Given the description of an element on the screen output the (x, y) to click on. 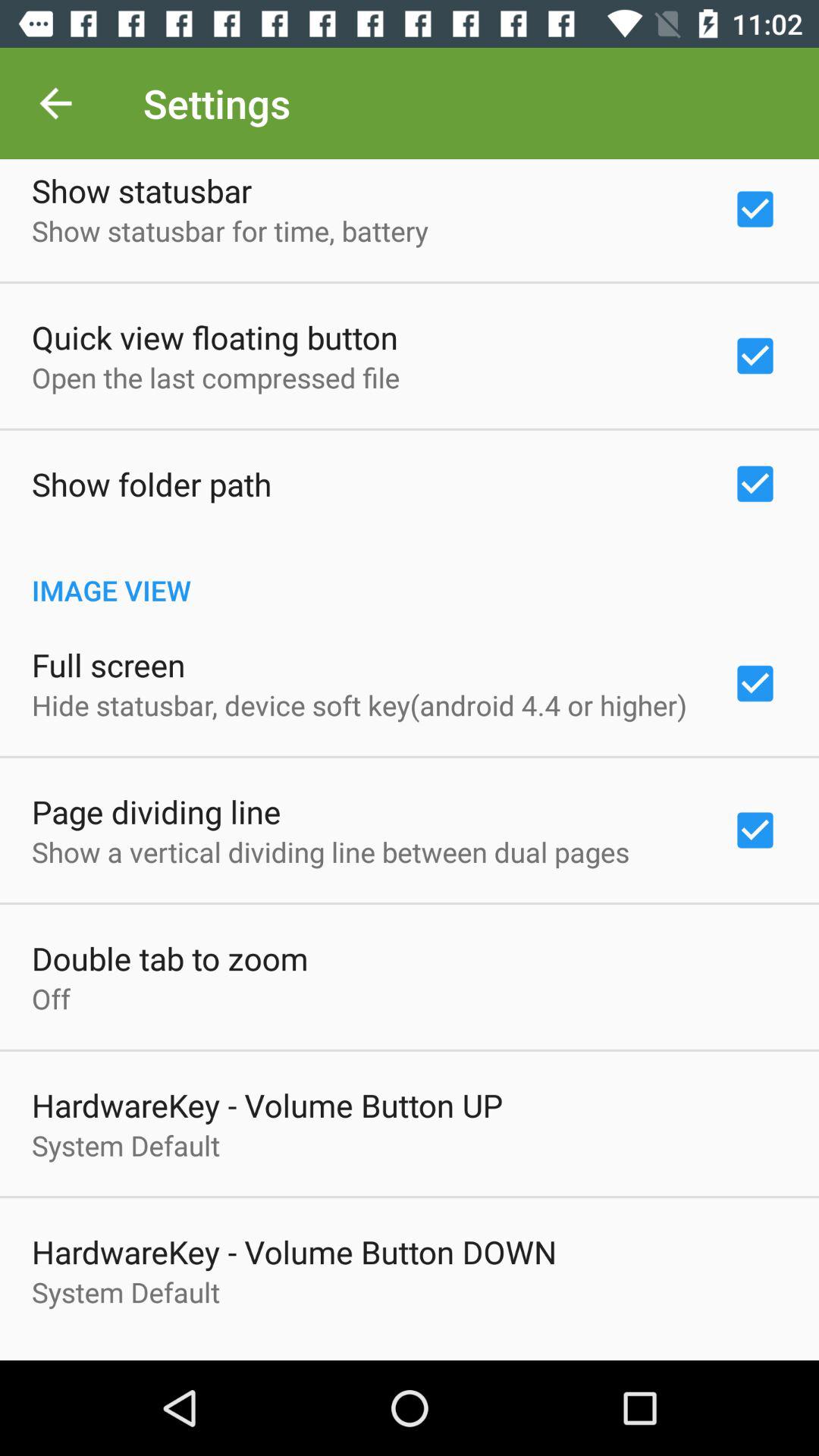
tap item below system default (409, 1352)
